Given the description of an element on the screen output the (x, y) to click on. 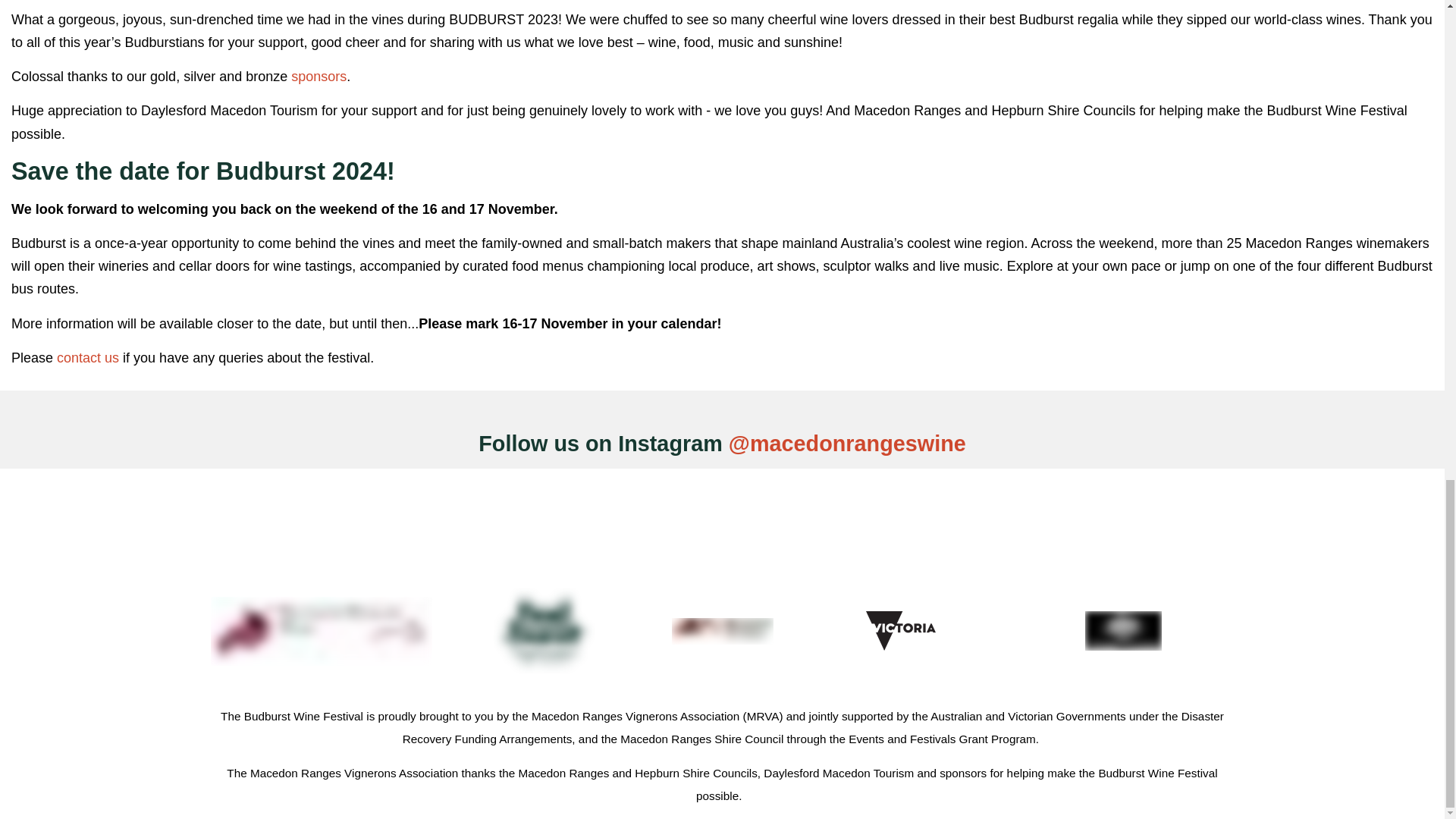
sponsors (318, 76)
macedonrangeswine (857, 443)
contact us (87, 357)
